Given the description of an element on the screen output the (x, y) to click on. 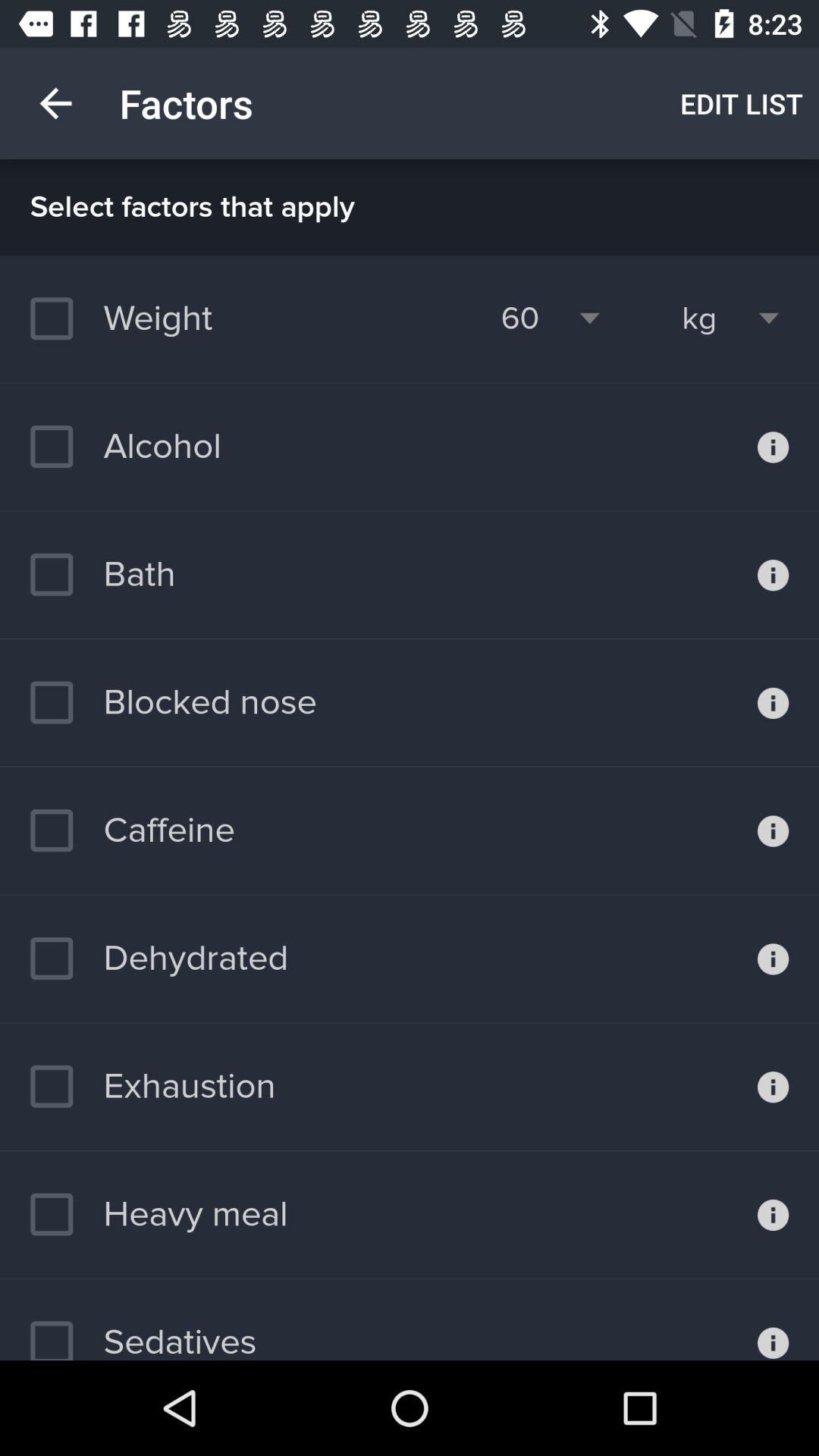
scroll until the dehydrated (159, 958)
